Given the description of an element on the screen output the (x, y) to click on. 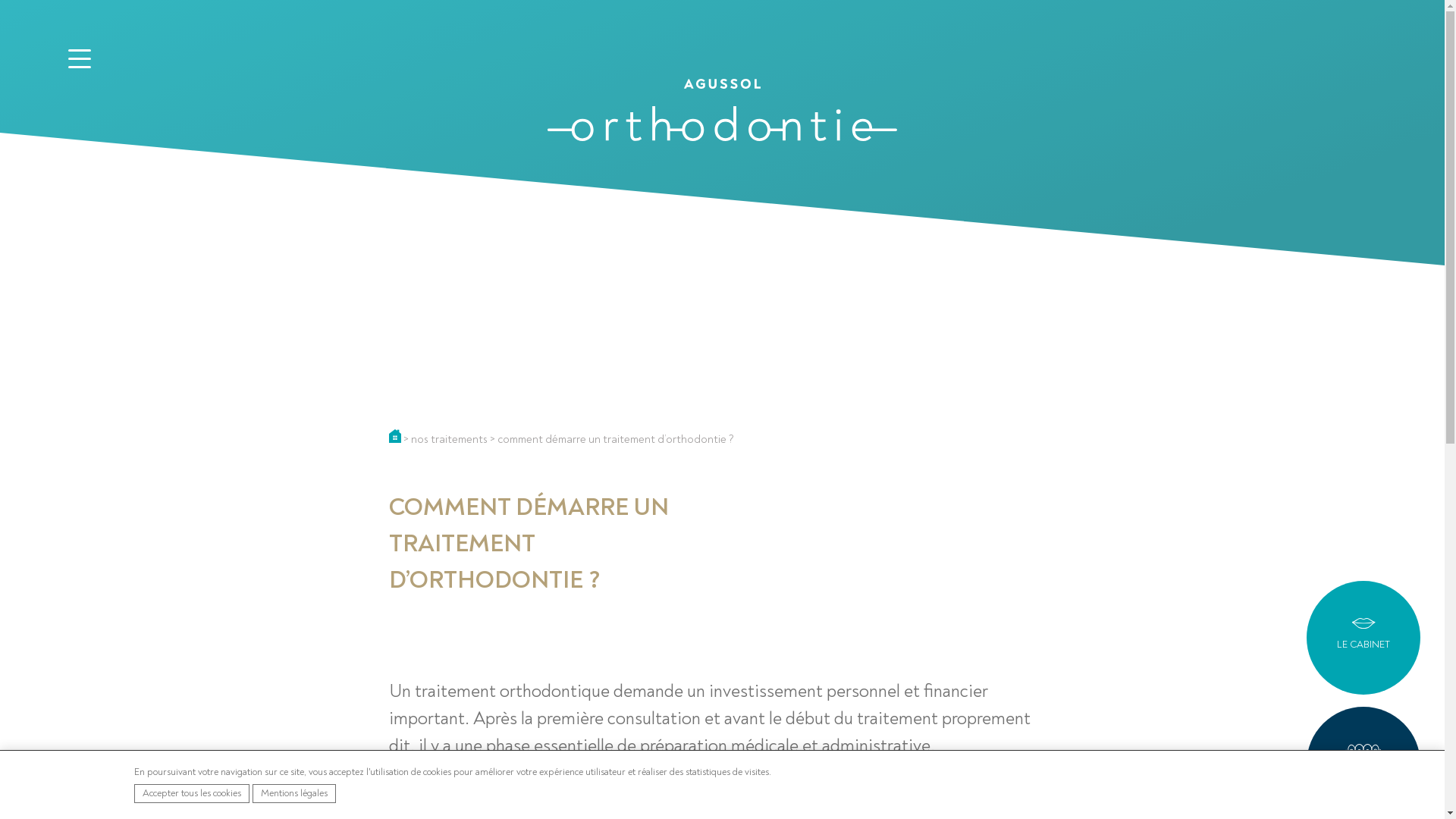
Accepter tous les cookies Element type: text (191, 793)
LE CABINET Element type: text (1363, 637)
nos traitements Element type: text (449, 439)
Menu principal Element type: hover (79, 60)
